Given the description of an element on the screen output the (x, y) to click on. 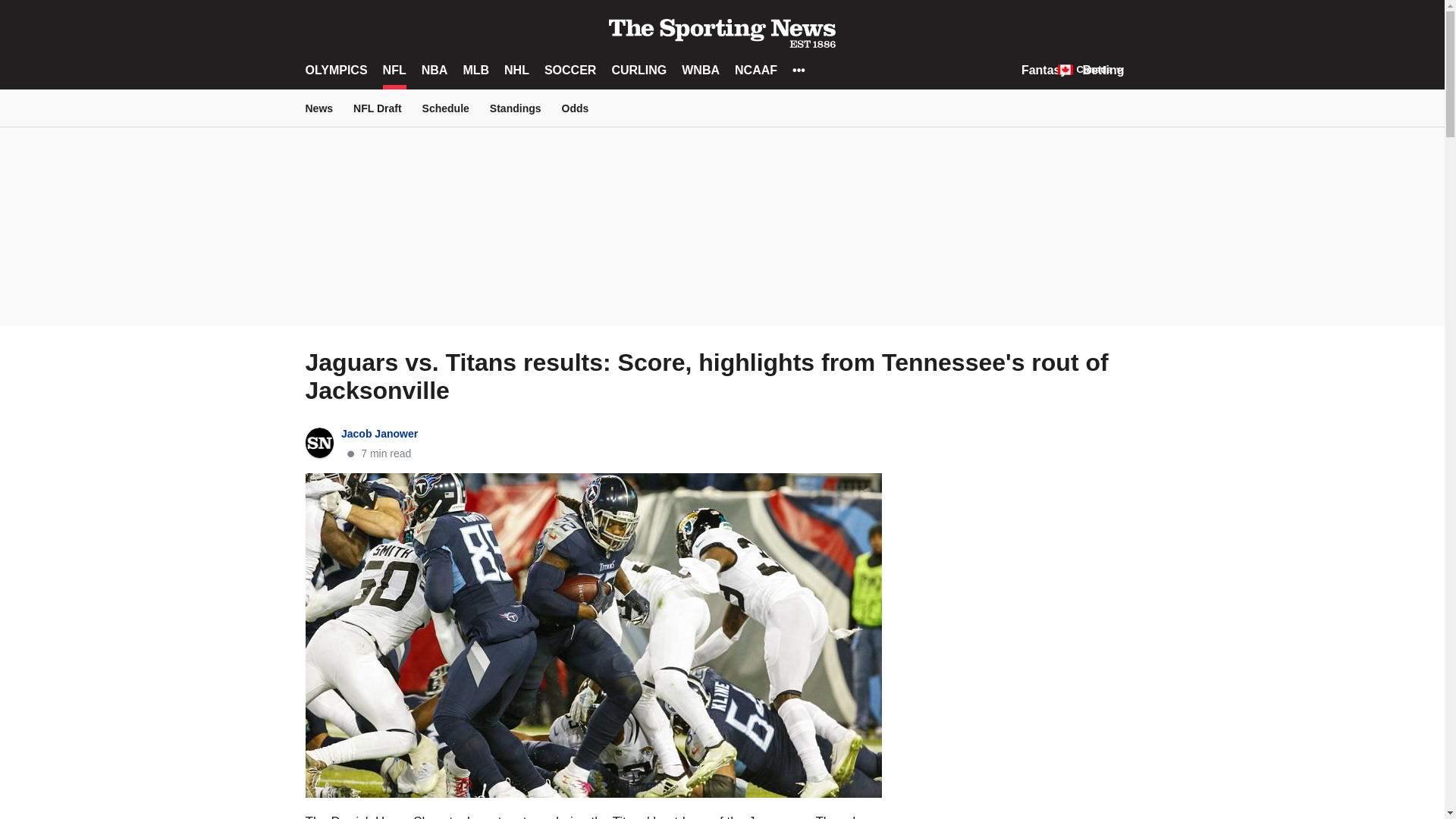
NCAAF (756, 70)
CURLING (638, 70)
OLYMPICS (335, 70)
WNBA (700, 70)
SOCCER (569, 70)
